Given the description of an element on the screen output the (x, y) to click on. 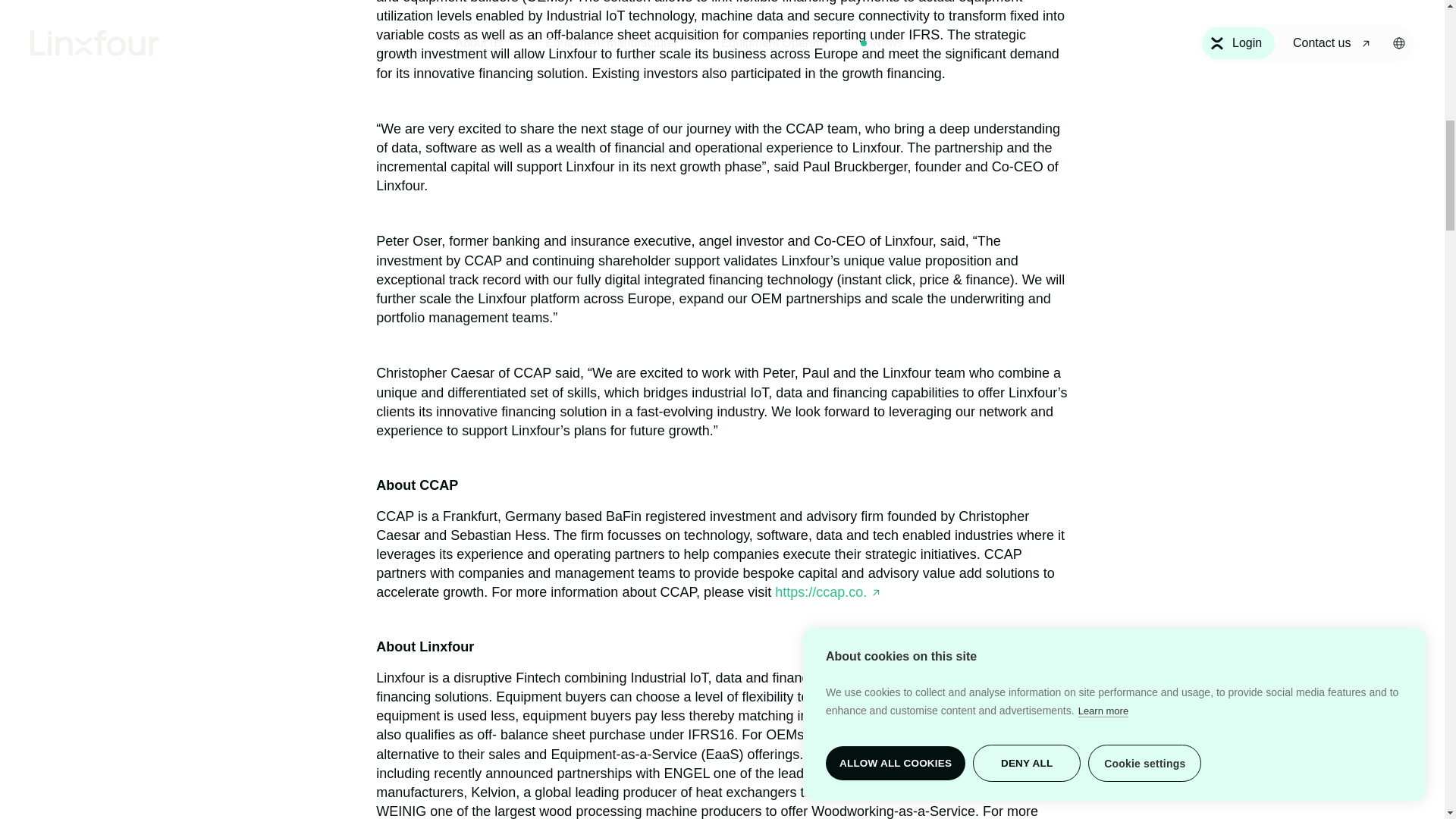
DENY ALL (1026, 57)
Learn more (1103, 58)
Cookie settings (1144, 78)
ALLOW ALL COOKIES (895, 17)
